Given the description of an element on the screen output the (x, y) to click on. 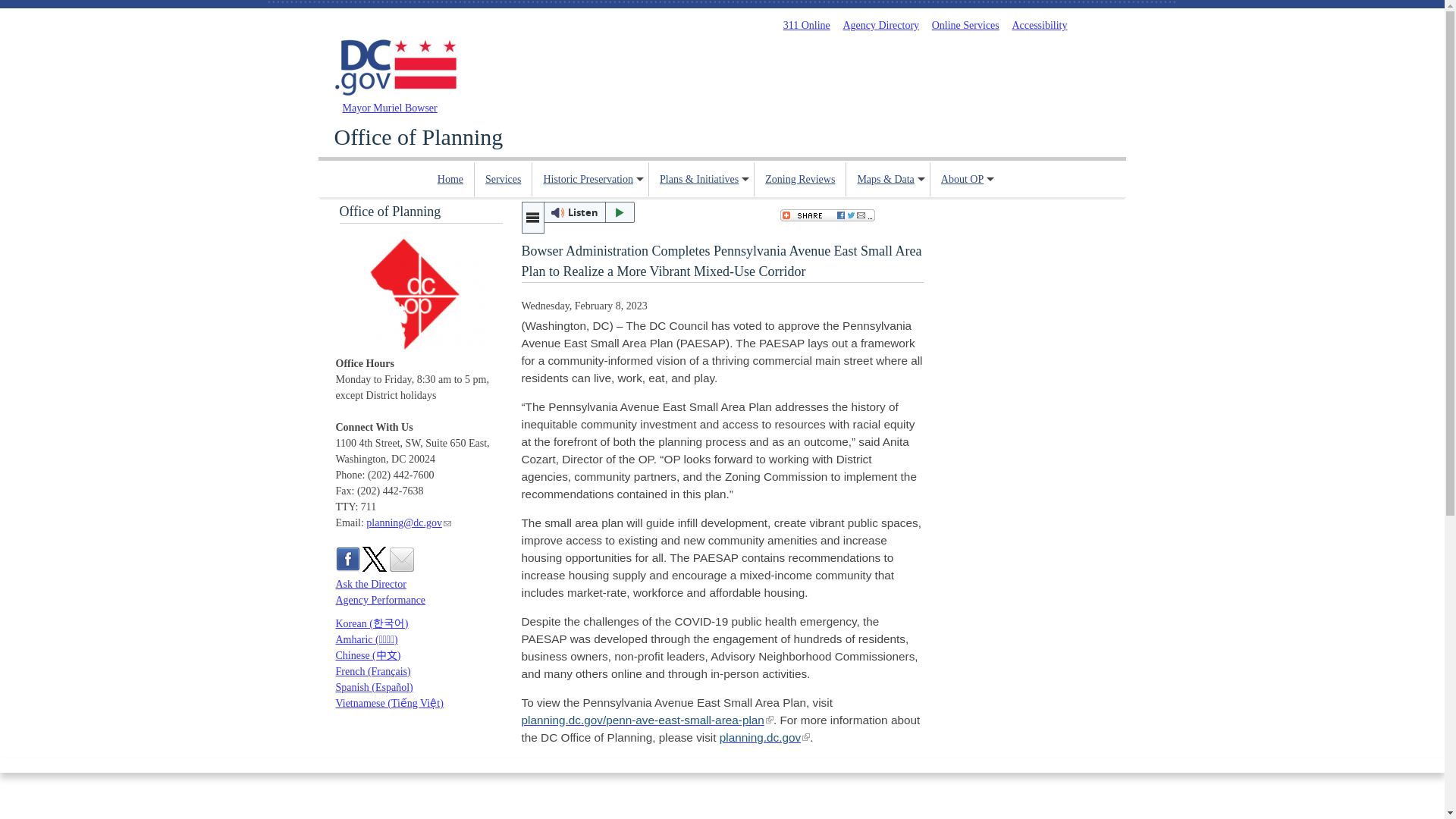
311 Online (806, 25)
Online Services (964, 25)
Online Services (964, 25)
Accessibility (1039, 25)
Agency Directory (880, 25)
Agency Directory (880, 25)
311 Online (806, 25)
Accessibility (1039, 25)
